Given the description of an element on the screen output the (x, y) to click on. 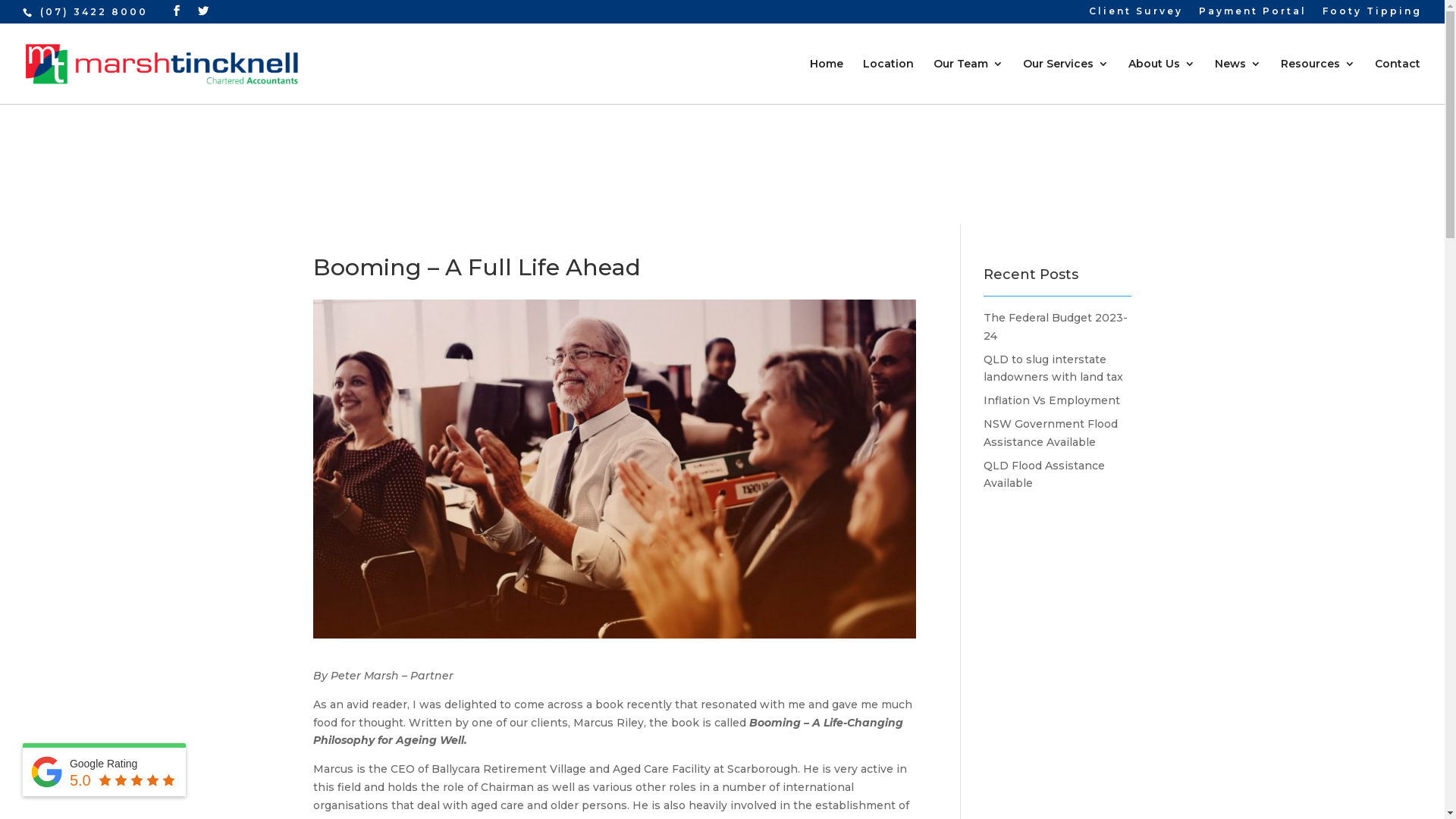
About Us Element type: text (1161, 80)
Home Element type: text (826, 80)
Inflation Vs Employment Element type: text (1051, 400)
The Federal Budget 2023-24 Element type: text (1055, 326)
QLD to slug interstate landowners with land tax Element type: text (1053, 368)
Our Services Element type: text (1065, 80)
Our Team Element type: text (968, 80)
Footy Tipping Element type: text (1371, 14)
QLD Flood Assistance Available Element type: text (1043, 474)
Location Element type: text (887, 80)
Payment Portal Element type: text (1252, 14)
NSW Government Flood Assistance Available Element type: text (1050, 432)
News Element type: text (1237, 80)
Resources Element type: text (1317, 80)
Client Survey Element type: text (1135, 14)
Contact Element type: text (1397, 80)
